Given the description of an element on the screen output the (x, y) to click on. 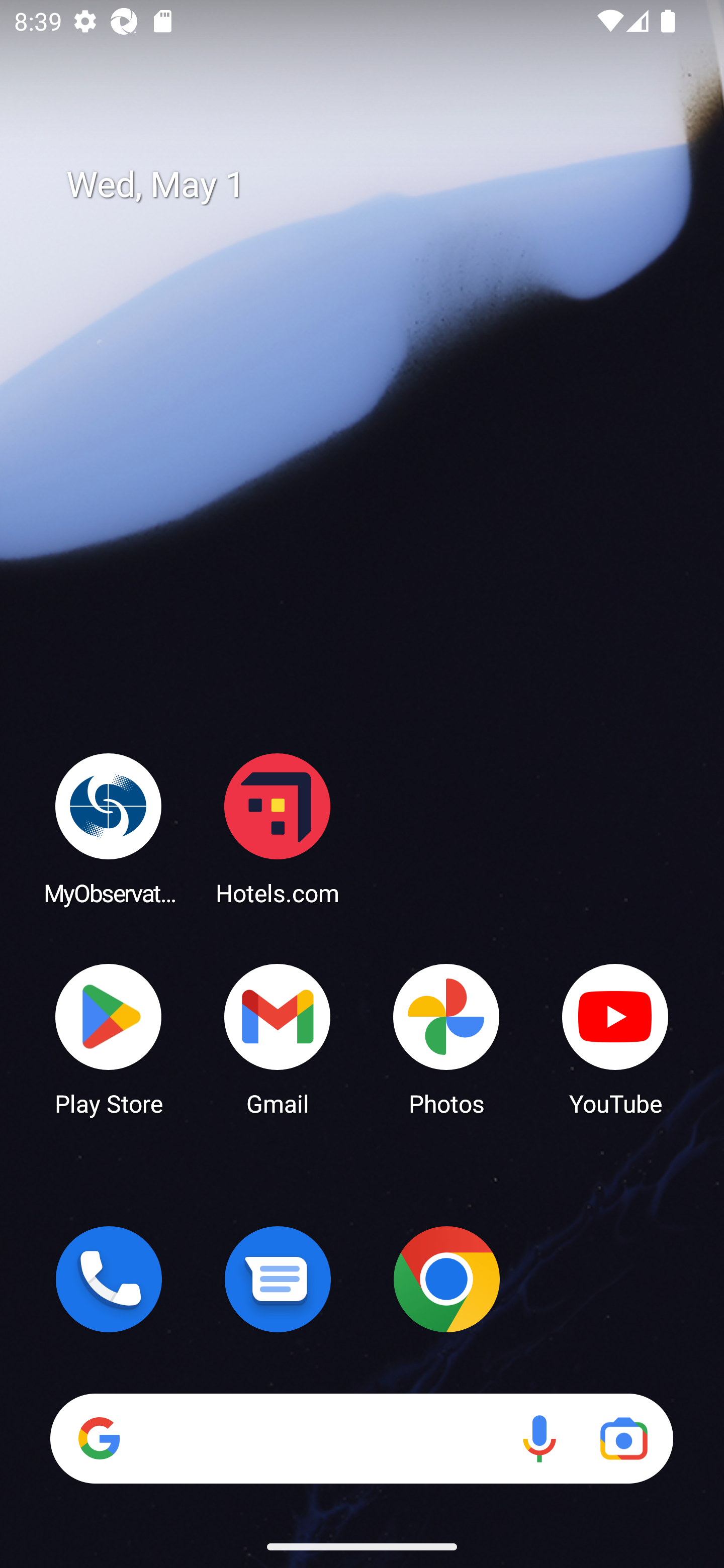
Wed, May 1 (375, 184)
MyObservatory (108, 828)
Hotels.com (277, 828)
Play Store (108, 1038)
Gmail (277, 1038)
Photos (445, 1038)
YouTube (615, 1038)
Phone (108, 1279)
Messages (277, 1279)
Chrome (446, 1279)
Search Voice search Google Lens (361, 1438)
Voice search (539, 1438)
Google Lens (623, 1438)
